Given the description of an element on the screen output the (x, y) to click on. 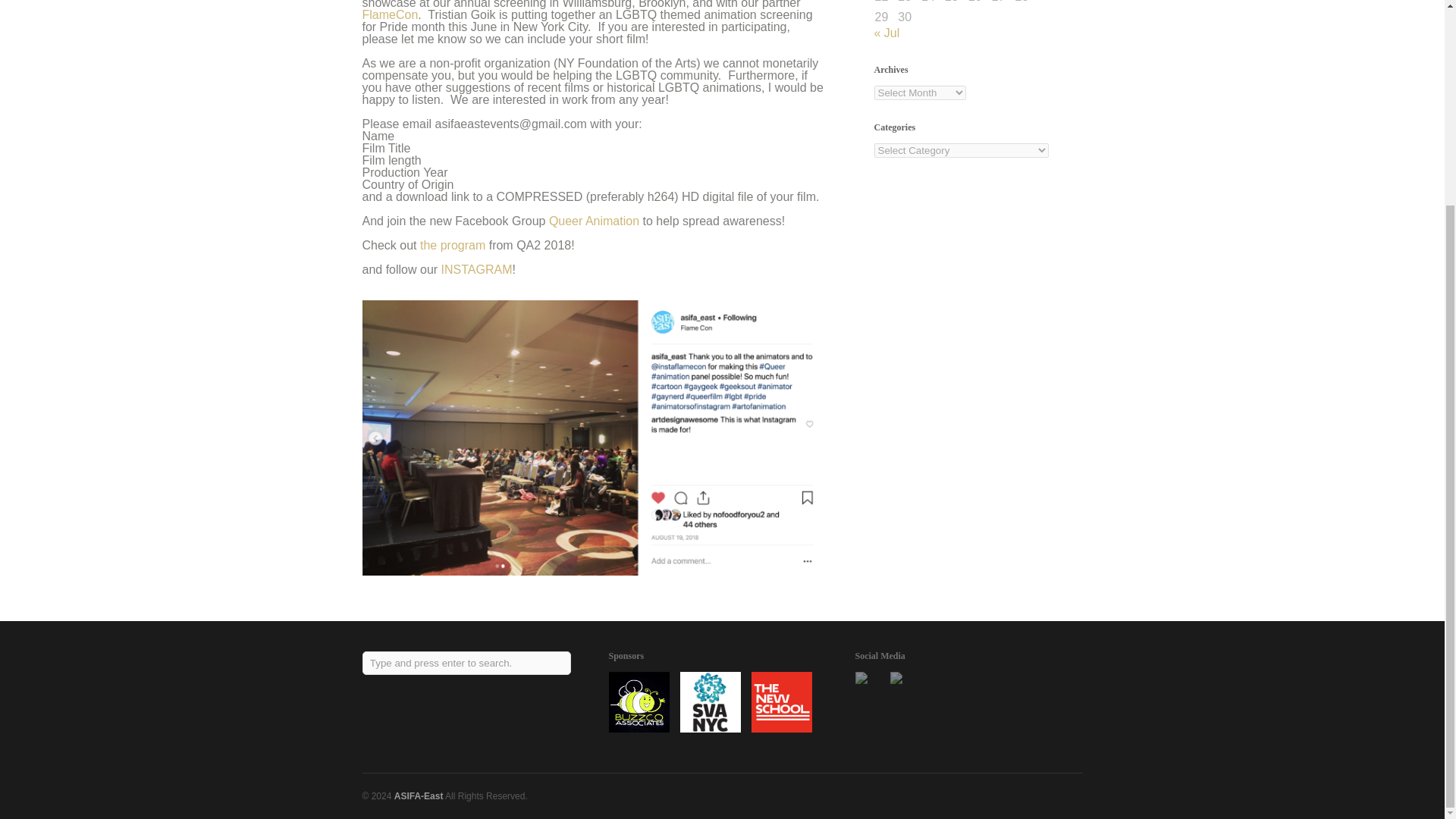
Type and press enter to search. (467, 662)
ASIFA-East (419, 796)
FlameCon (390, 14)
Queer Animation (593, 220)
the program (452, 245)
INSTAGRAM (476, 269)
